Given the description of an element on the screen output the (x, y) to click on. 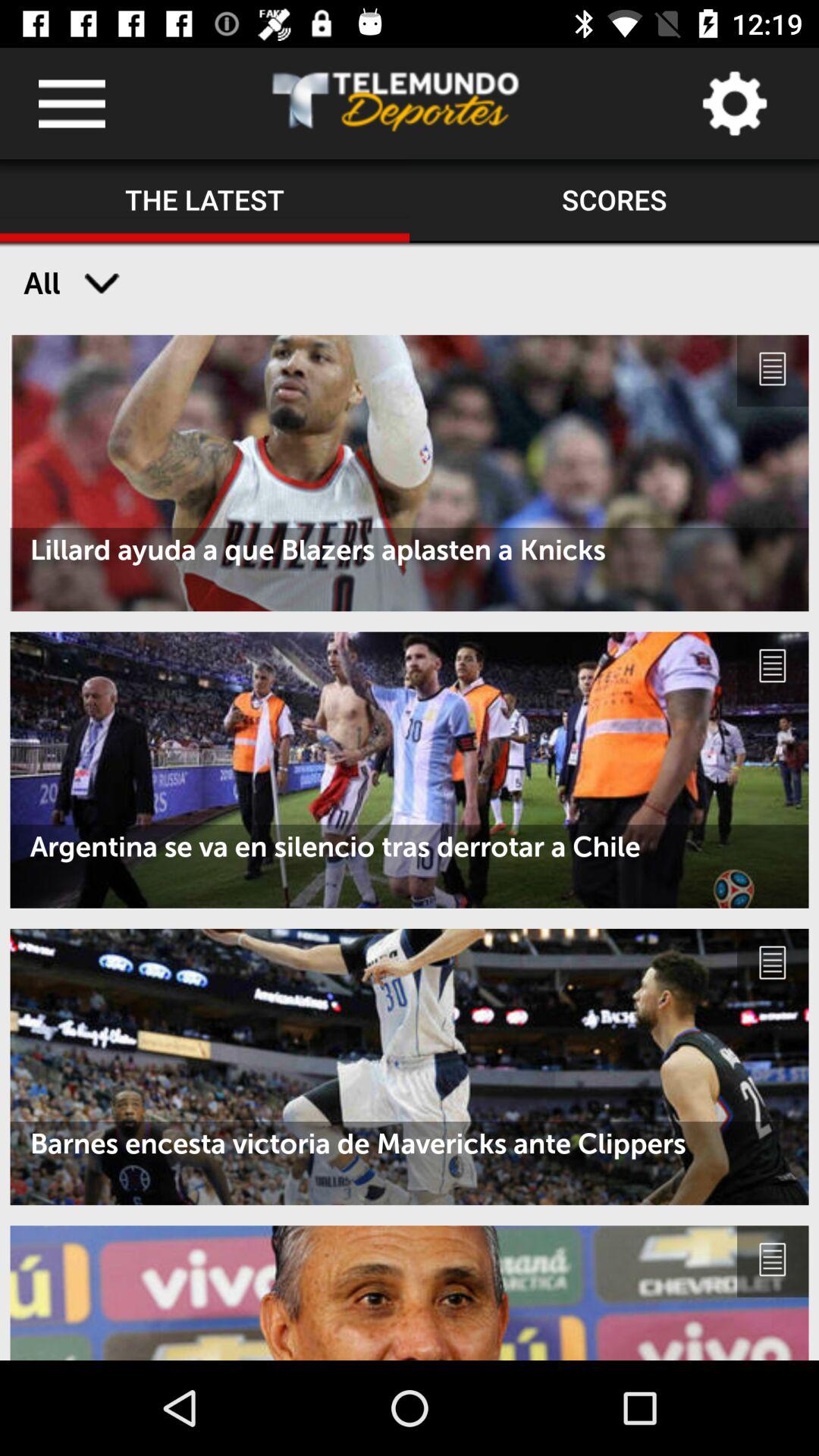
scroll to lillard ayuda a (409, 549)
